Given the description of an element on the screen output the (x, y) to click on. 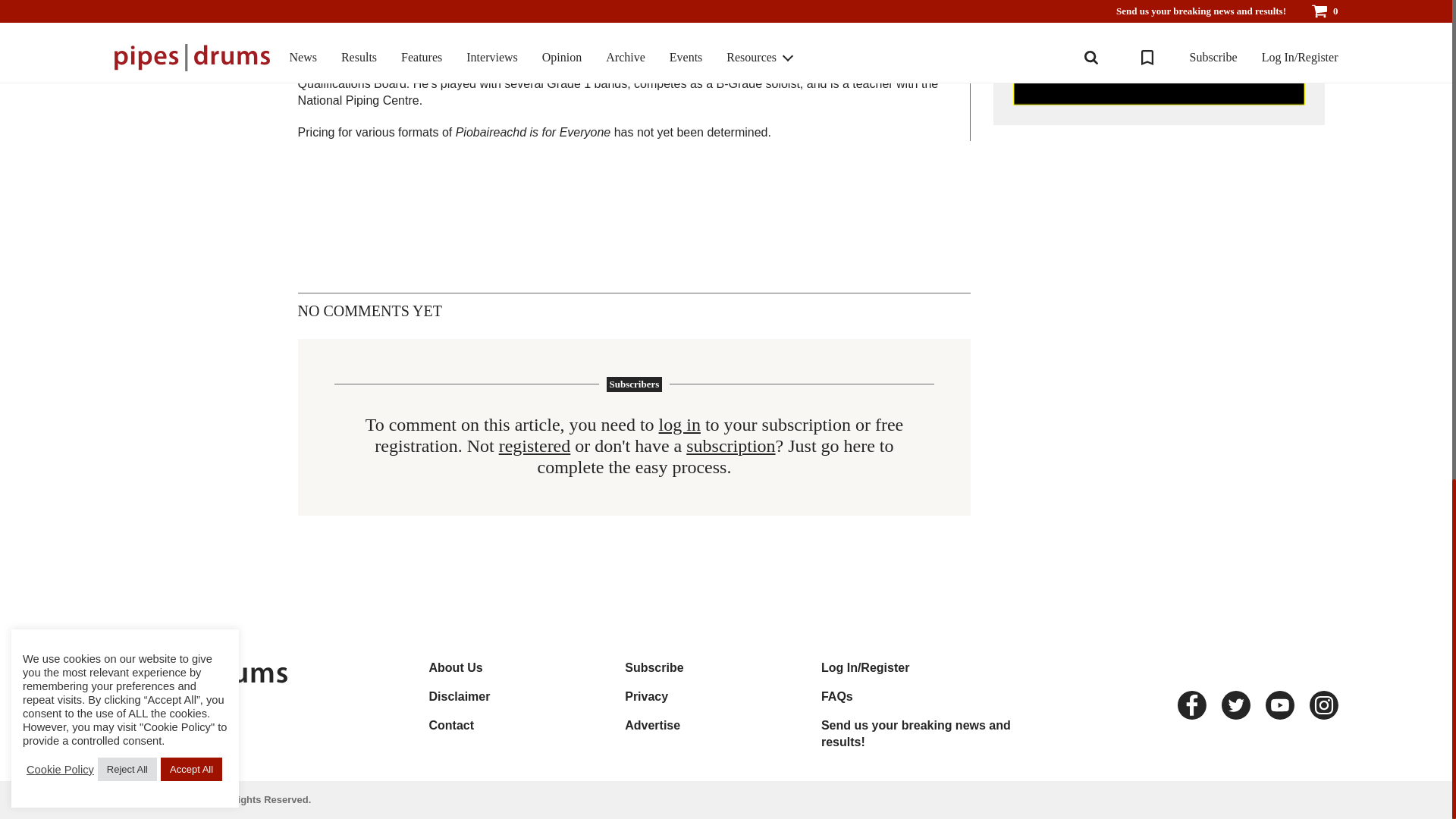
log in (679, 424)
subscription (729, 446)
registered (534, 446)
